Given the description of an element on the screen output the (x, y) to click on. 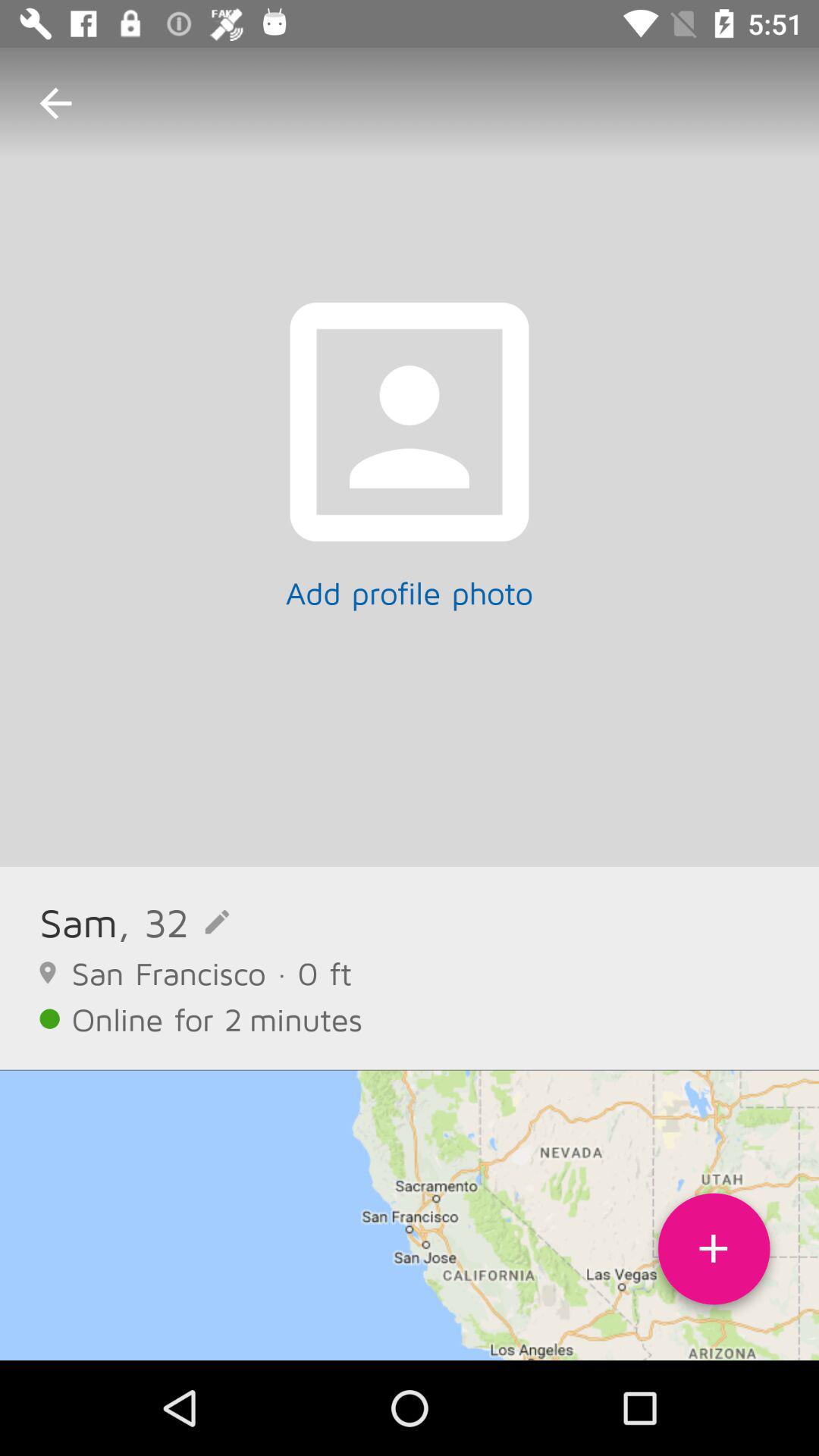
click , 32 item (173, 921)
